Given the description of an element on the screen output the (x, y) to click on. 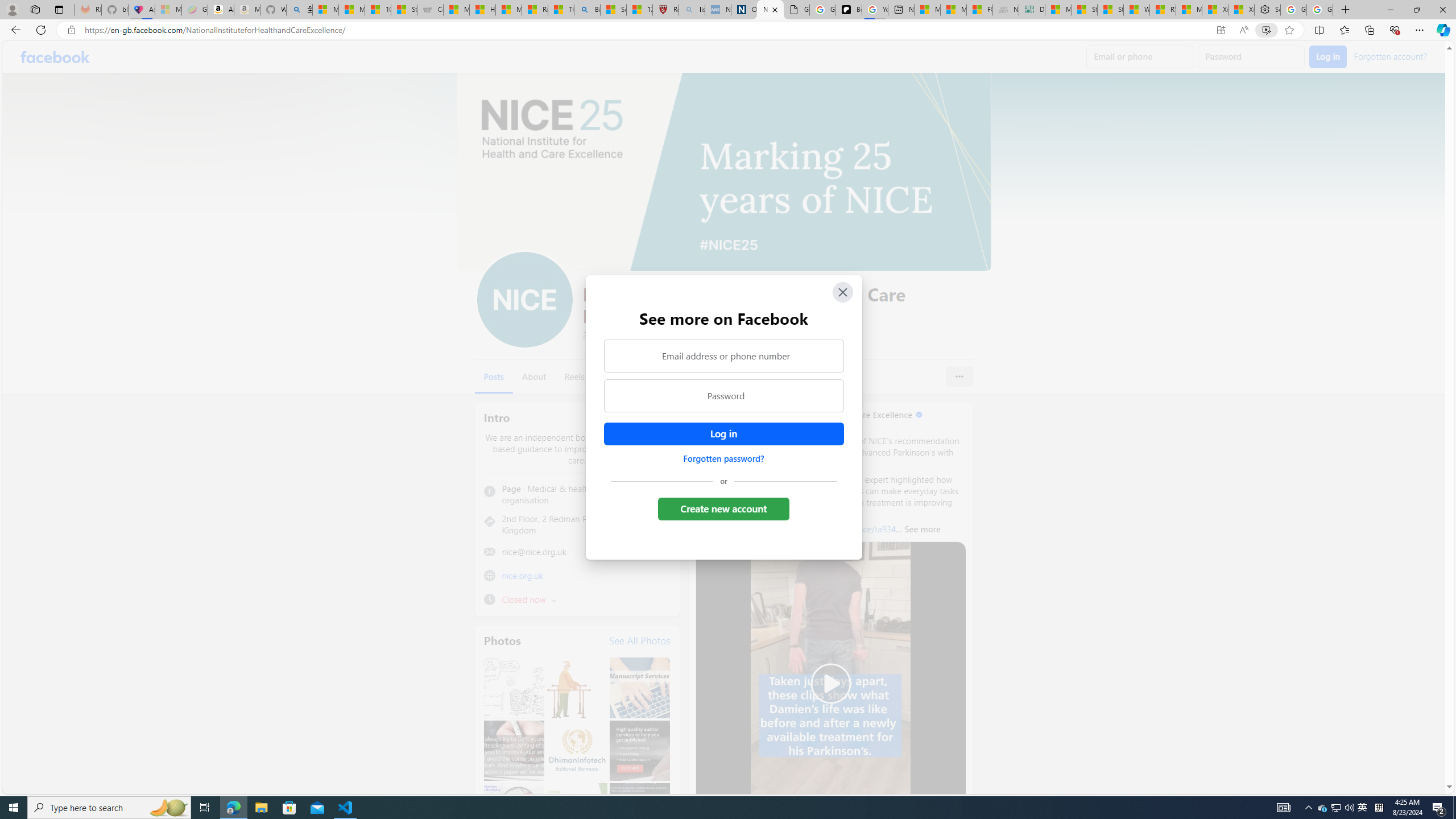
Forgotten account? (1390, 55)
Be Smart | creating Science videos | Patreon (848, 9)
Facebook (55, 56)
Science - MSN (613, 9)
DITOGAMES AG Imprint (1031, 9)
Email address or phone number (723, 355)
